Given the description of an element on the screen output the (x, y) to click on. 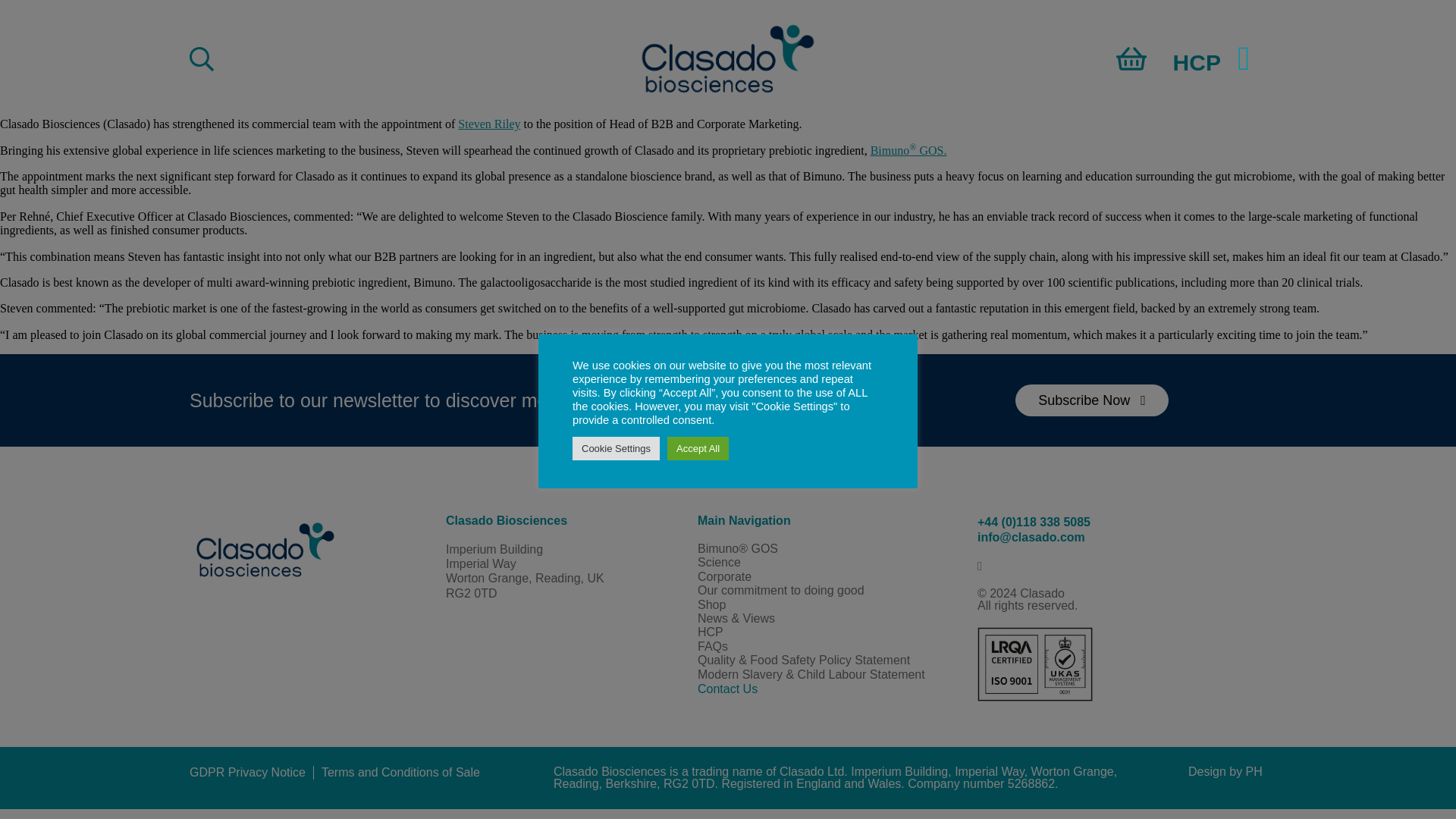
Shop (829, 604)
Our commitment to doing good (829, 590)
Science (829, 562)
Subscribe Now (1091, 400)
Steven Riley (488, 123)
FAQs (829, 646)
HCP (829, 632)
Contact Us (829, 689)
HCP (1197, 62)
Corporate (829, 576)
